Given the description of an element on the screen output the (x, y) to click on. 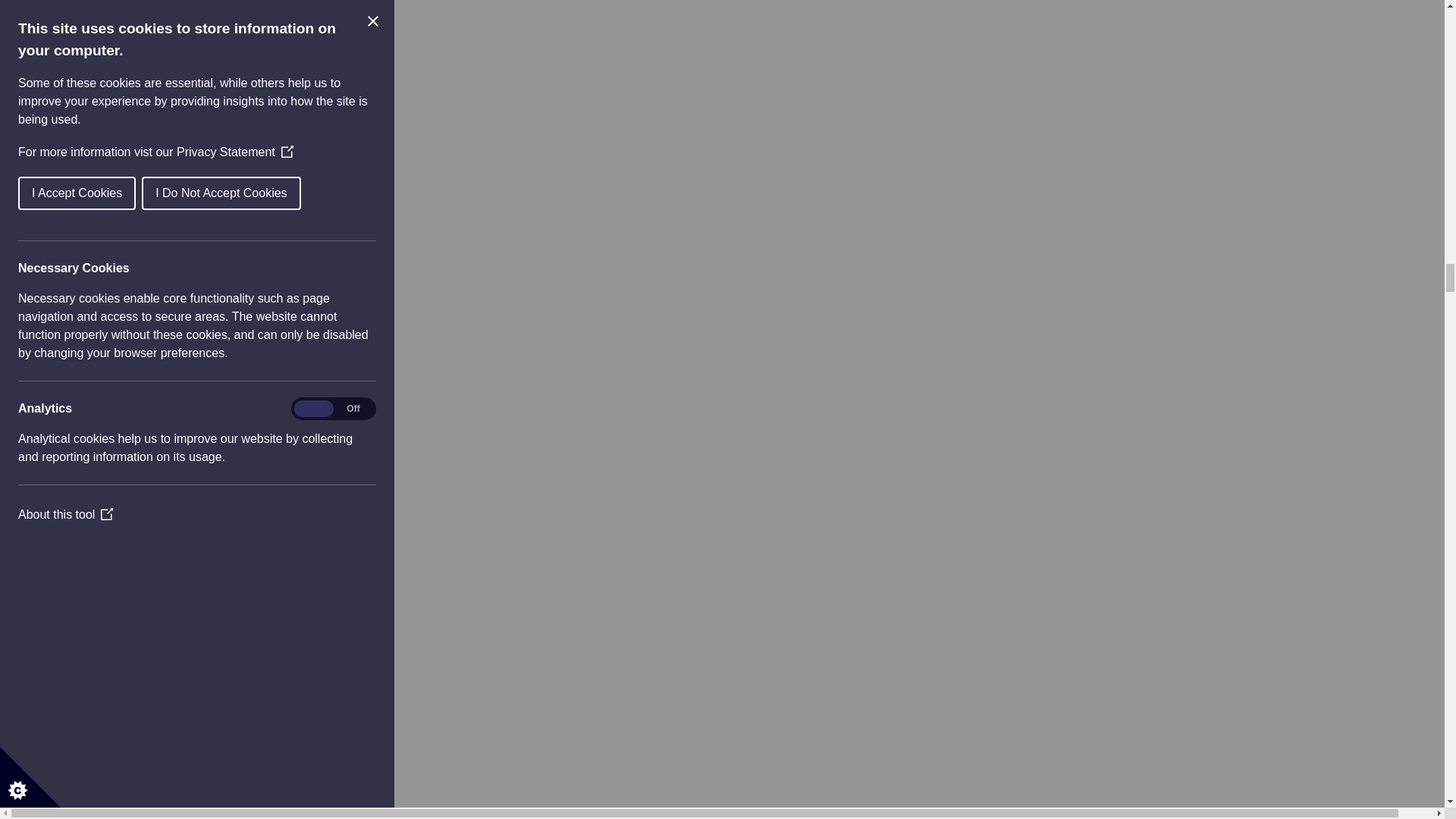
01 (92, 254)
